Given the description of an element on the screen output the (x, y) to click on. 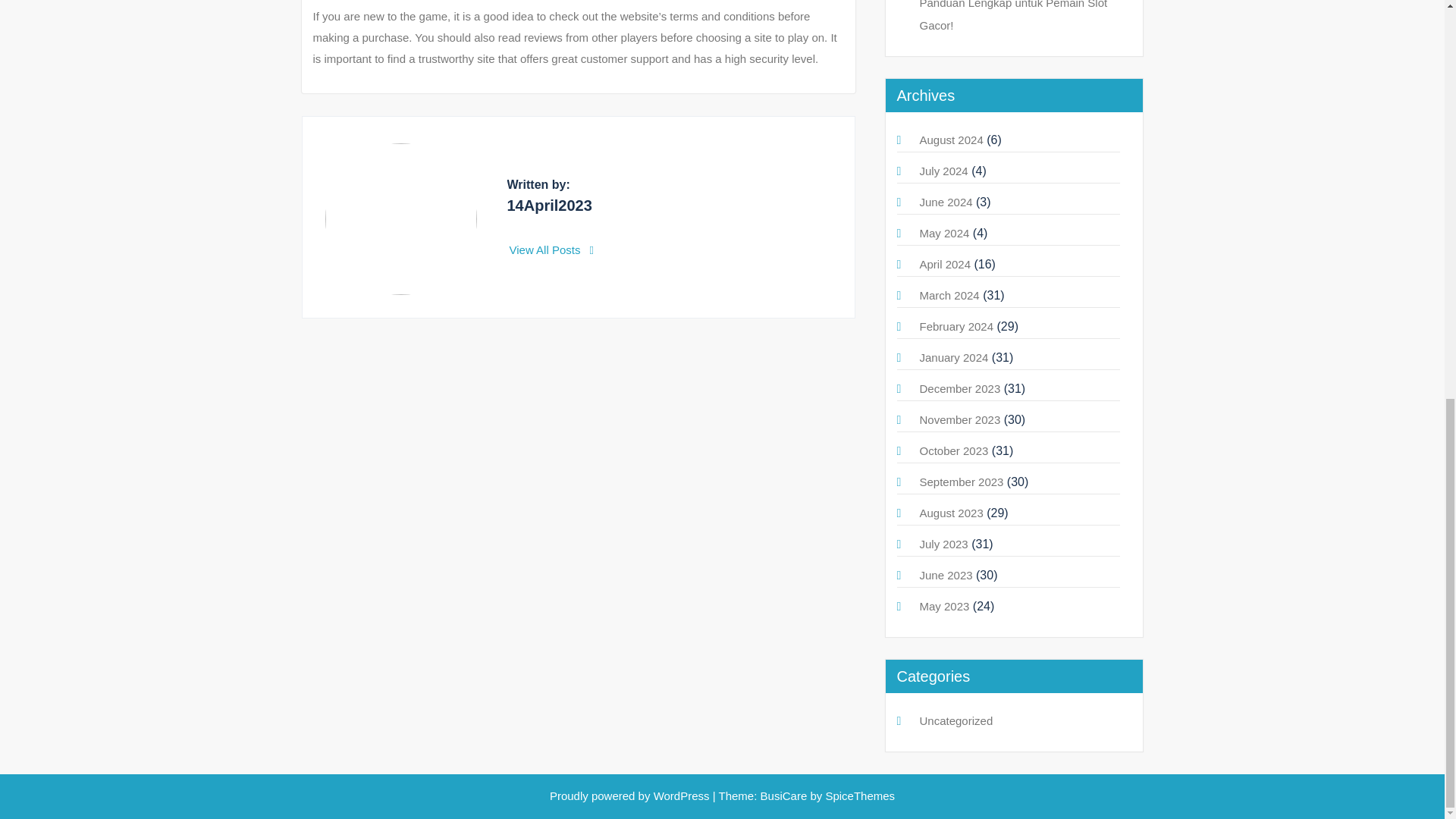
November 2023 (959, 419)
May 2023 (943, 605)
June 2024 (945, 201)
May 2024 (943, 232)
April 2024 (944, 264)
January 2024 (953, 357)
View All Posts (551, 249)
July 2023 (943, 543)
March 2024 (948, 295)
October 2023 (953, 450)
